Given the description of an element on the screen output the (x, y) to click on. 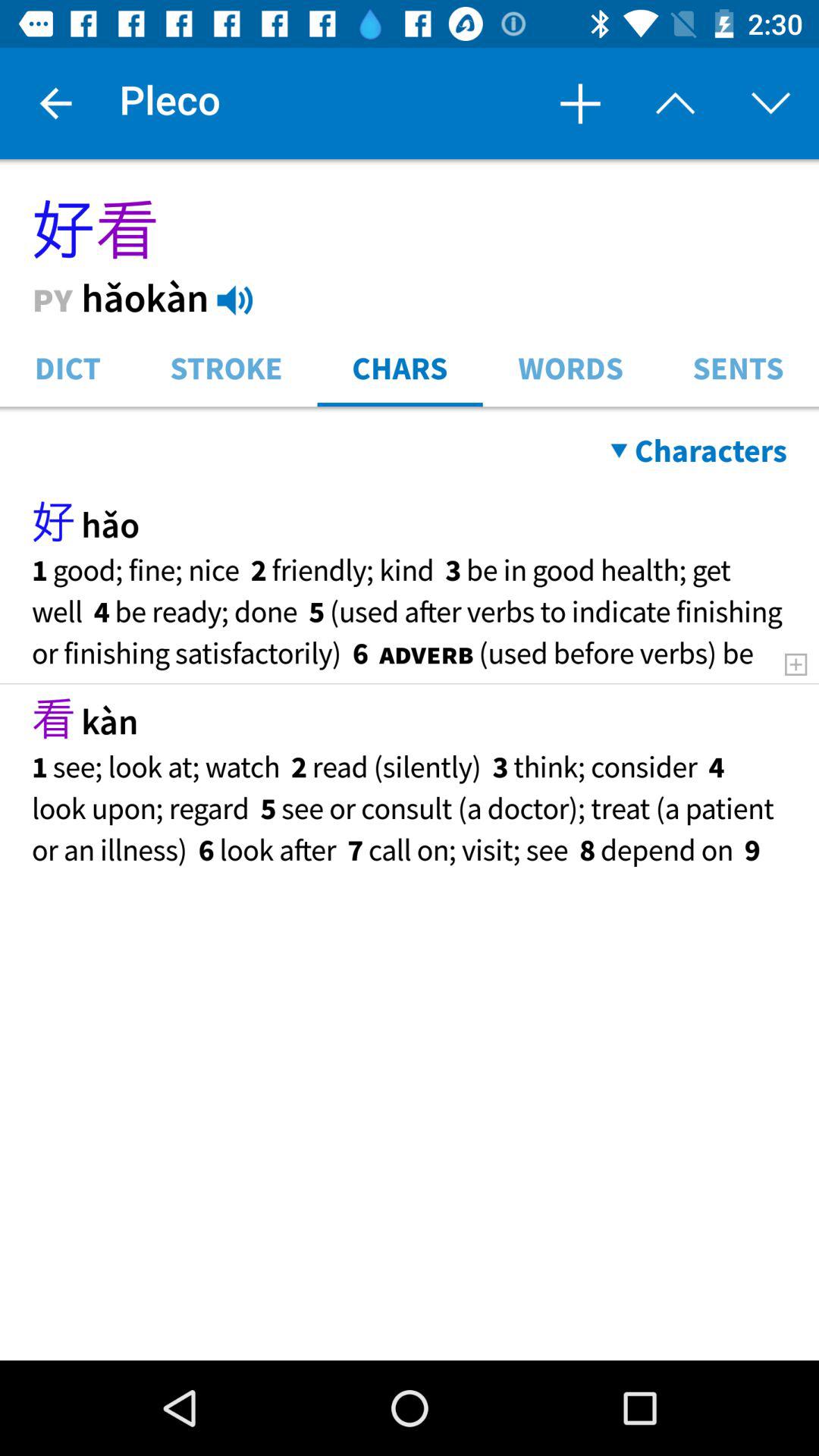
tap icon to the left of stroke (67, 366)
